Given the description of an element on the screen output the (x, y) to click on. 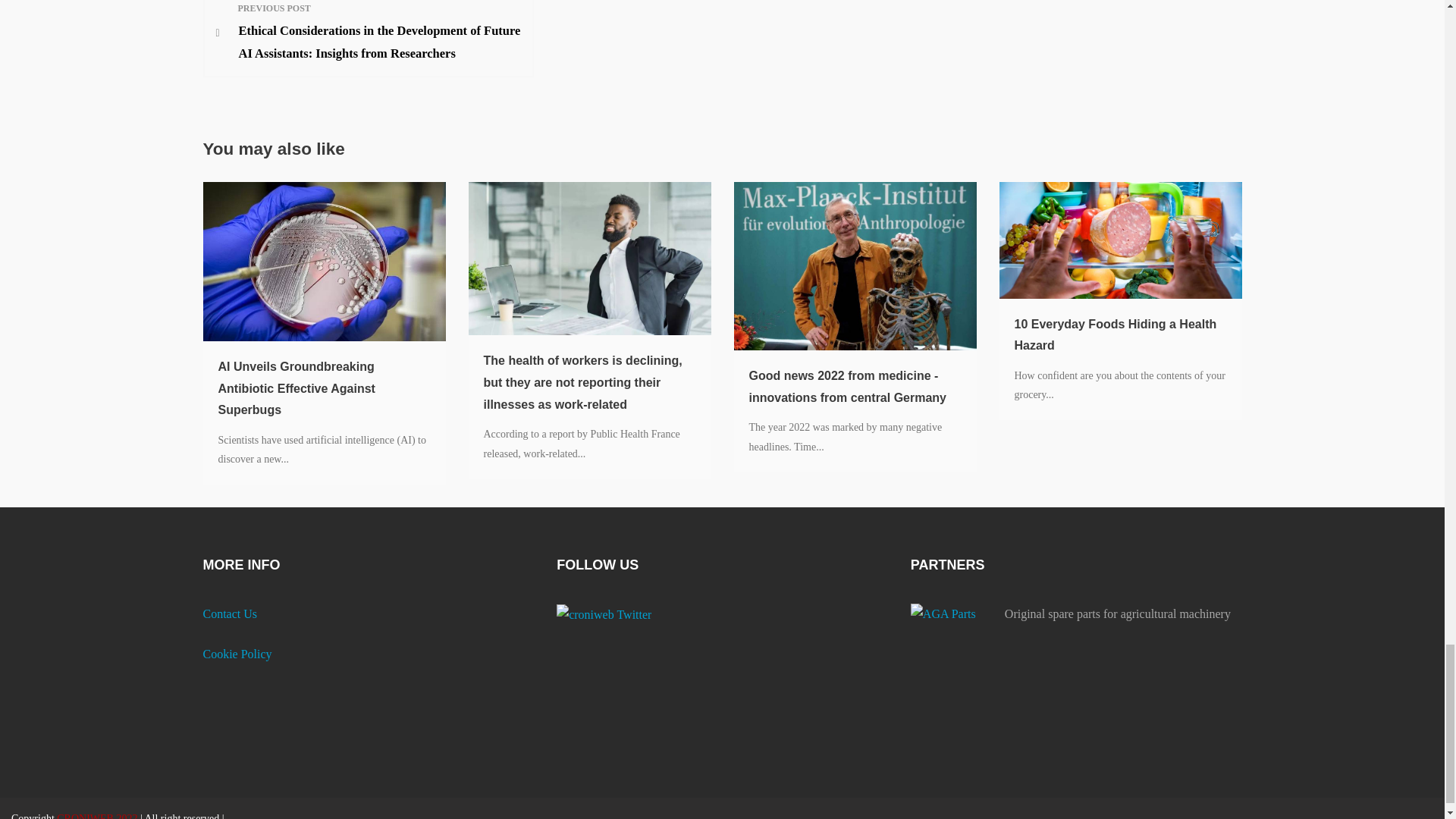
Cookie Policy (237, 653)
CRONIWEB 2022 (97, 816)
Contact Us (230, 613)
